Given the description of an element on the screen output the (x, y) to click on. 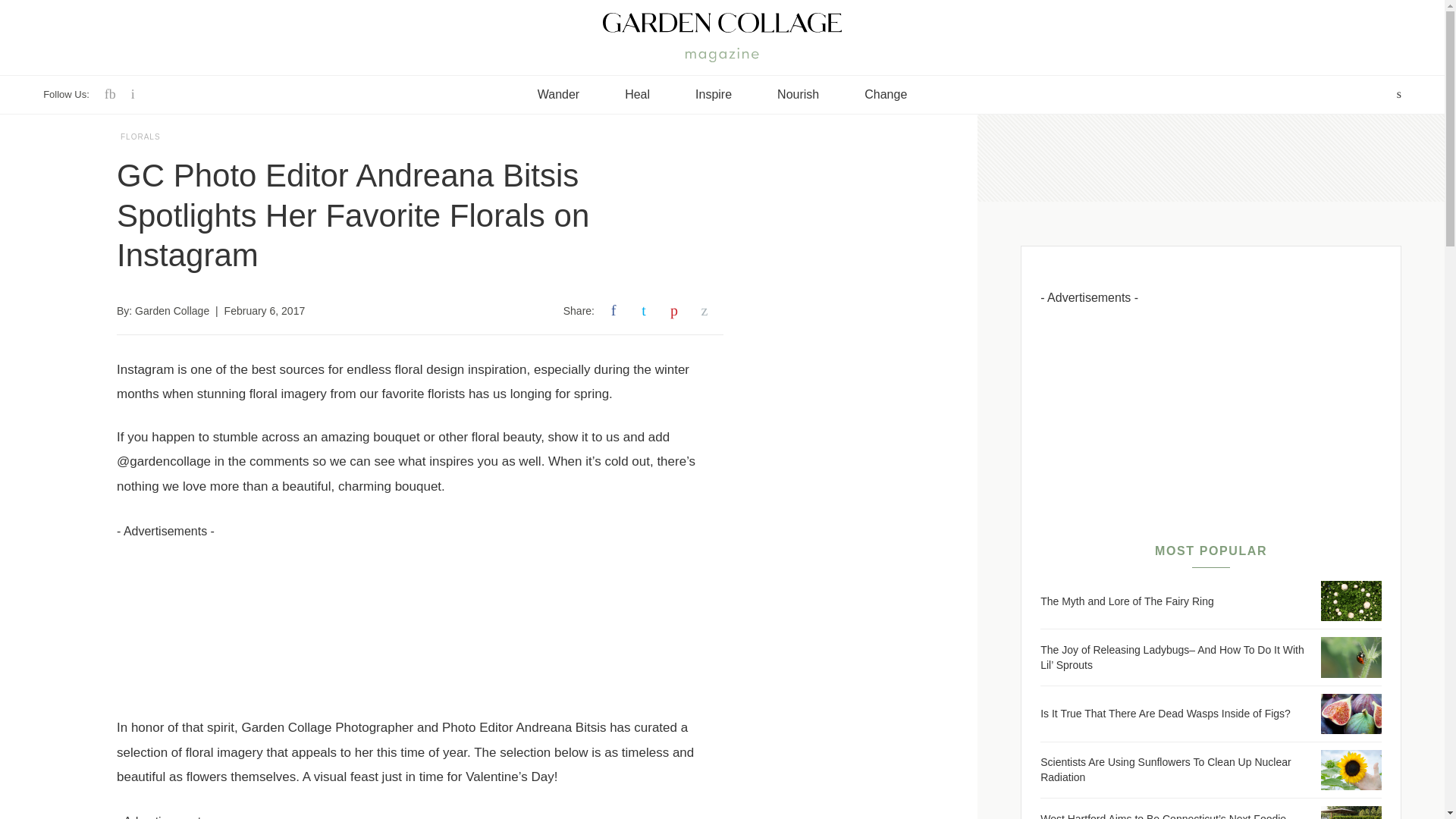
Nourish (797, 94)
Wander (558, 94)
Sign Up (721, 707)
Enter Now (722, 755)
Change (885, 94)
Inspire (713, 94)
Home Page (721, 22)
